Given the description of an element on the screen output the (x, y) to click on. 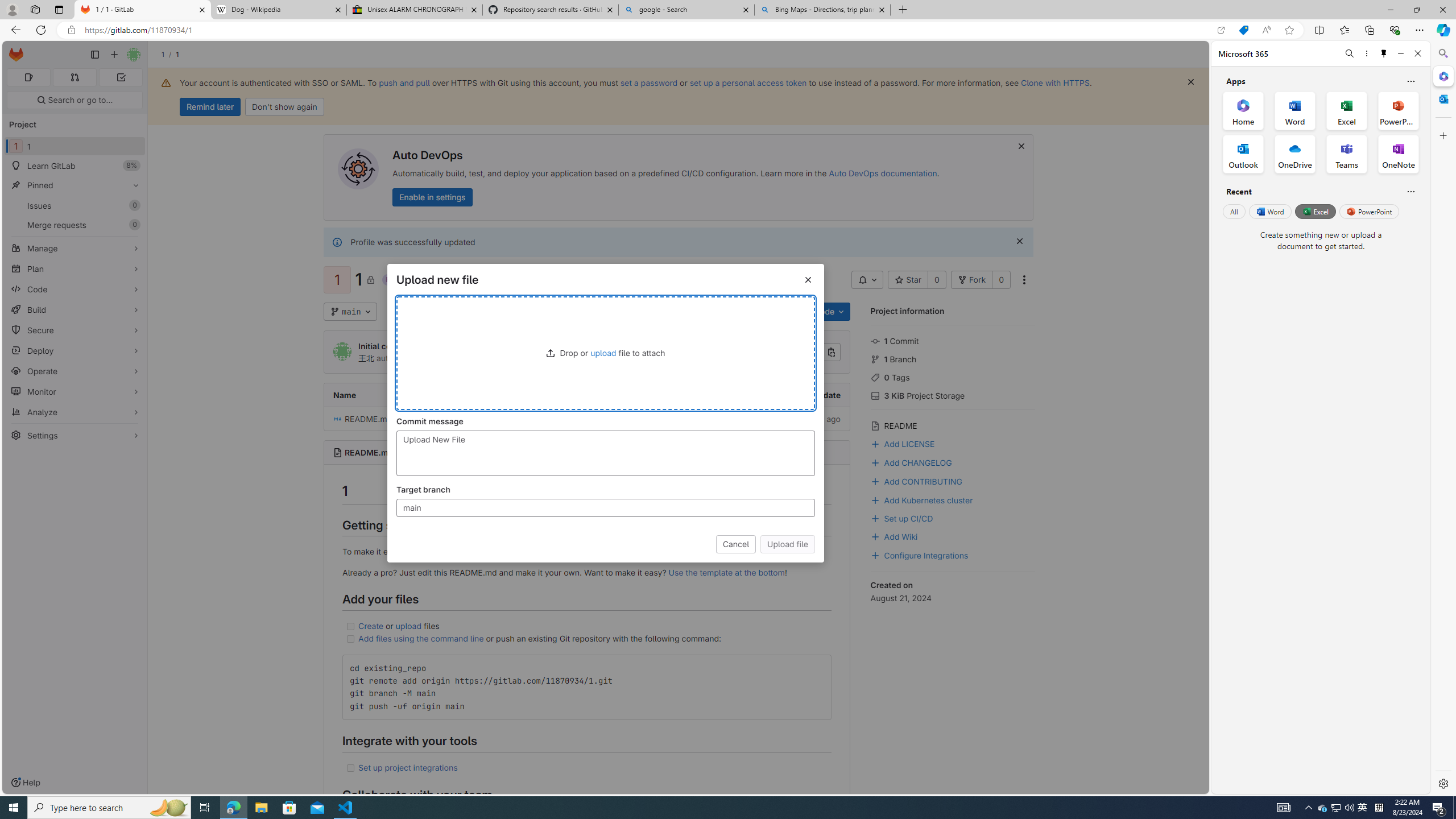
 Star (908, 280)
0 Tags (952, 376)
OneNote Office App (1398, 154)
Assigned issues 0 (28, 76)
AutomationID: __BVID__789 (605, 506)
Learn GitLab8% (74, 165)
Operate (74, 370)
Add files using the command line (420, 638)
Cancel (735, 543)
Find file (739, 311)
